Given the description of an element on the screen output the (x, y) to click on. 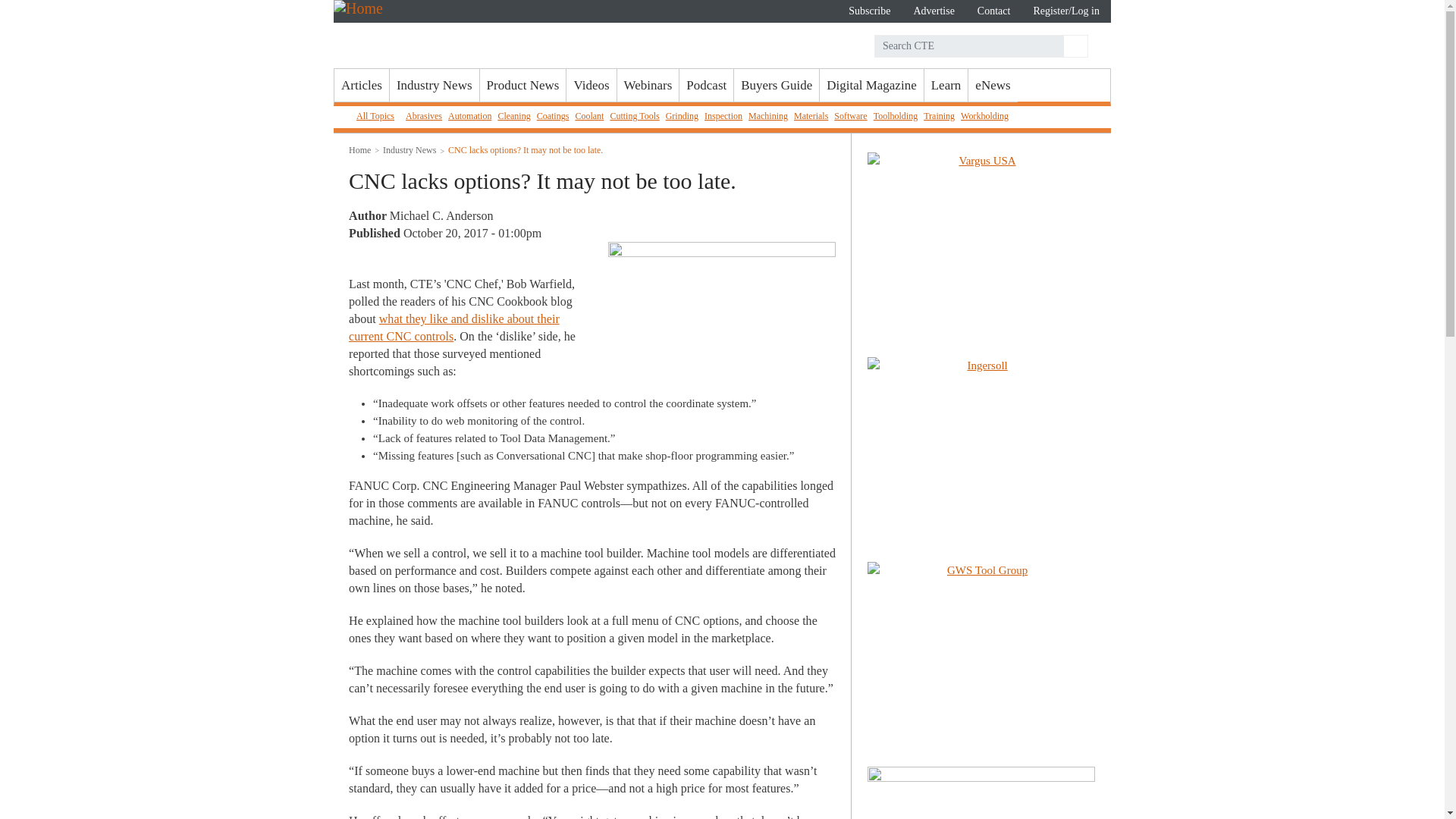
Advertise (933, 11)
Search (1074, 46)
Articles (361, 84)
Home (439, 33)
eNews (992, 84)
Contact (994, 11)
Expand menu Industry News (434, 84)
Industry News (434, 84)
Product News (523, 84)
Videos (590, 84)
